Given the description of an element on the screen output the (x, y) to click on. 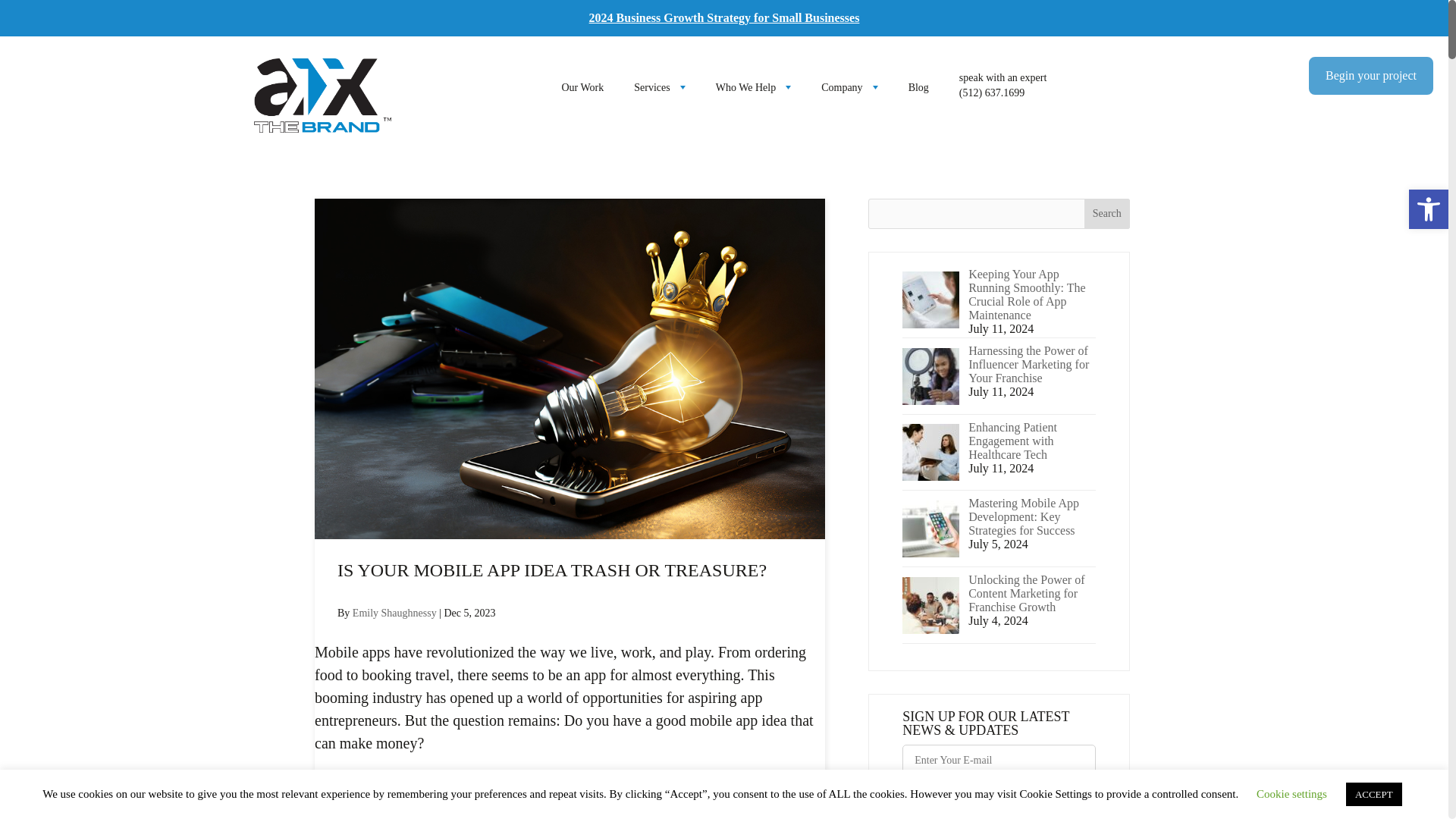
Sign Up Now (968, 805)
2024 Business Growth Strategy for Small Businesses (724, 17)
Posts by Emily Shaughnessy (394, 613)
Accessibility Tools (1428, 209)
Company (849, 87)
Who We Help (753, 87)
